Given the description of an element on the screen output the (x, y) to click on. 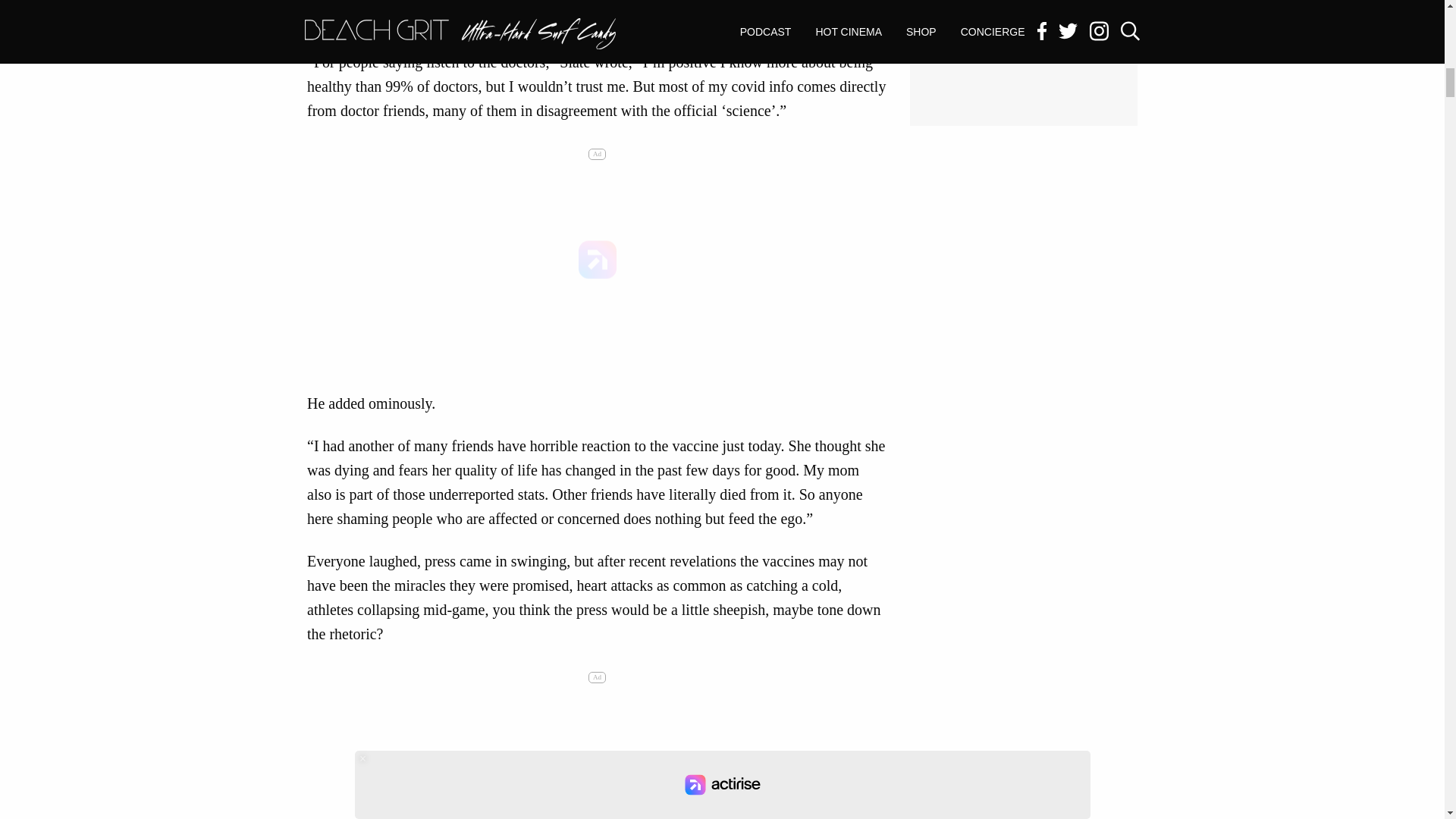
the notoriously unrestrained Australian press (543, 2)
